Given the description of an element on the screen output the (x, y) to click on. 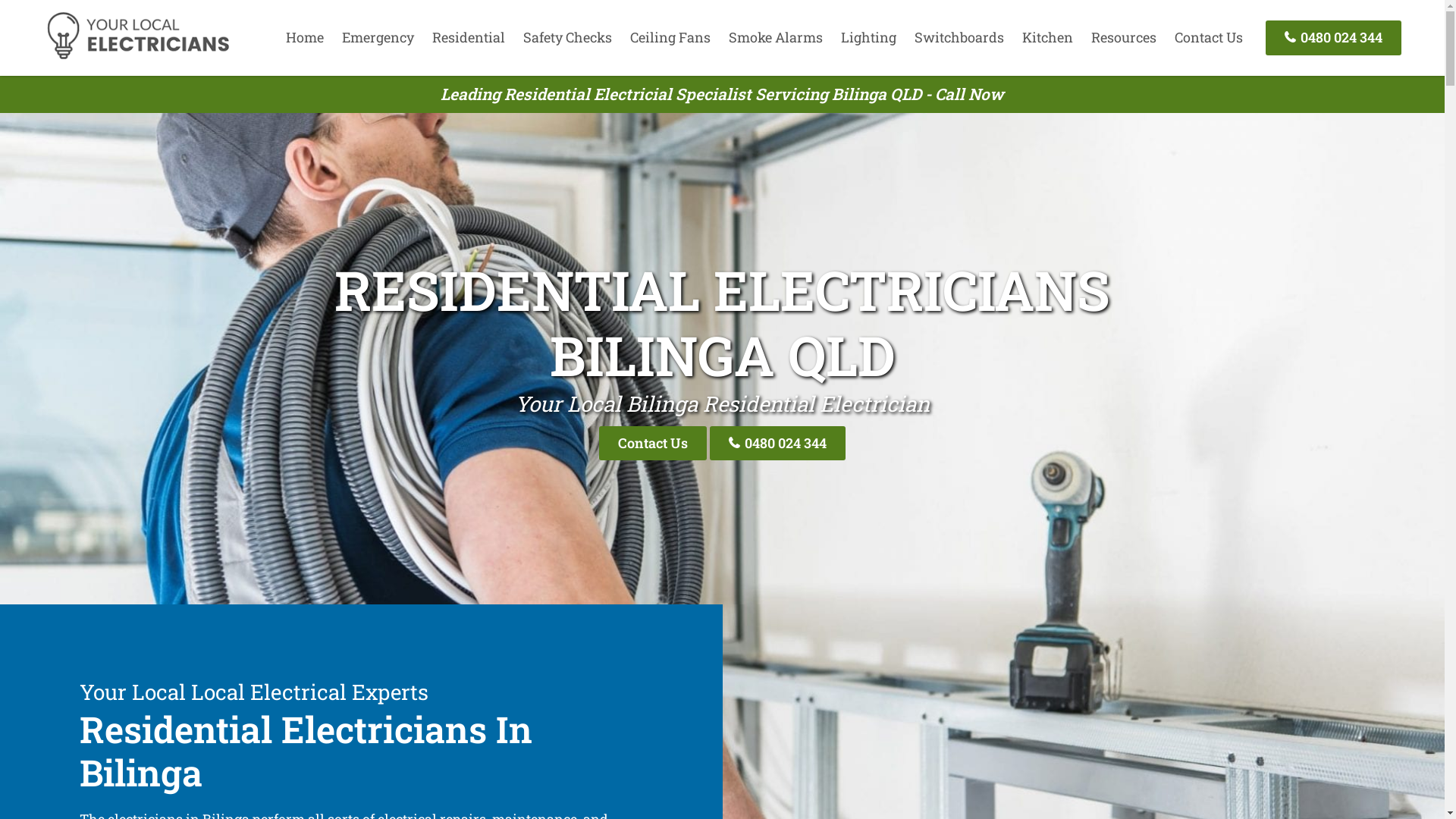
Switchboards Element type: text (958, 37)
Lighting Element type: text (868, 37)
Contact Us Element type: text (652, 443)
0480 024 344 Element type: text (1333, 37)
Safety Checks Element type: text (567, 37)
0480 024 344 Element type: text (777, 443)
Resources Element type: text (1123, 37)
Home Element type: text (304, 37)
Ceiling Fans Element type: text (670, 37)
Contact Us Element type: text (1208, 37)
Electricians Element type: hover (137, 56)
Residential Element type: text (468, 37)
Smoke Alarms Element type: text (775, 37)
Kitchen Element type: text (1047, 37)
Emergency Element type: text (377, 37)
